Given the description of an element on the screen output the (x, y) to click on. 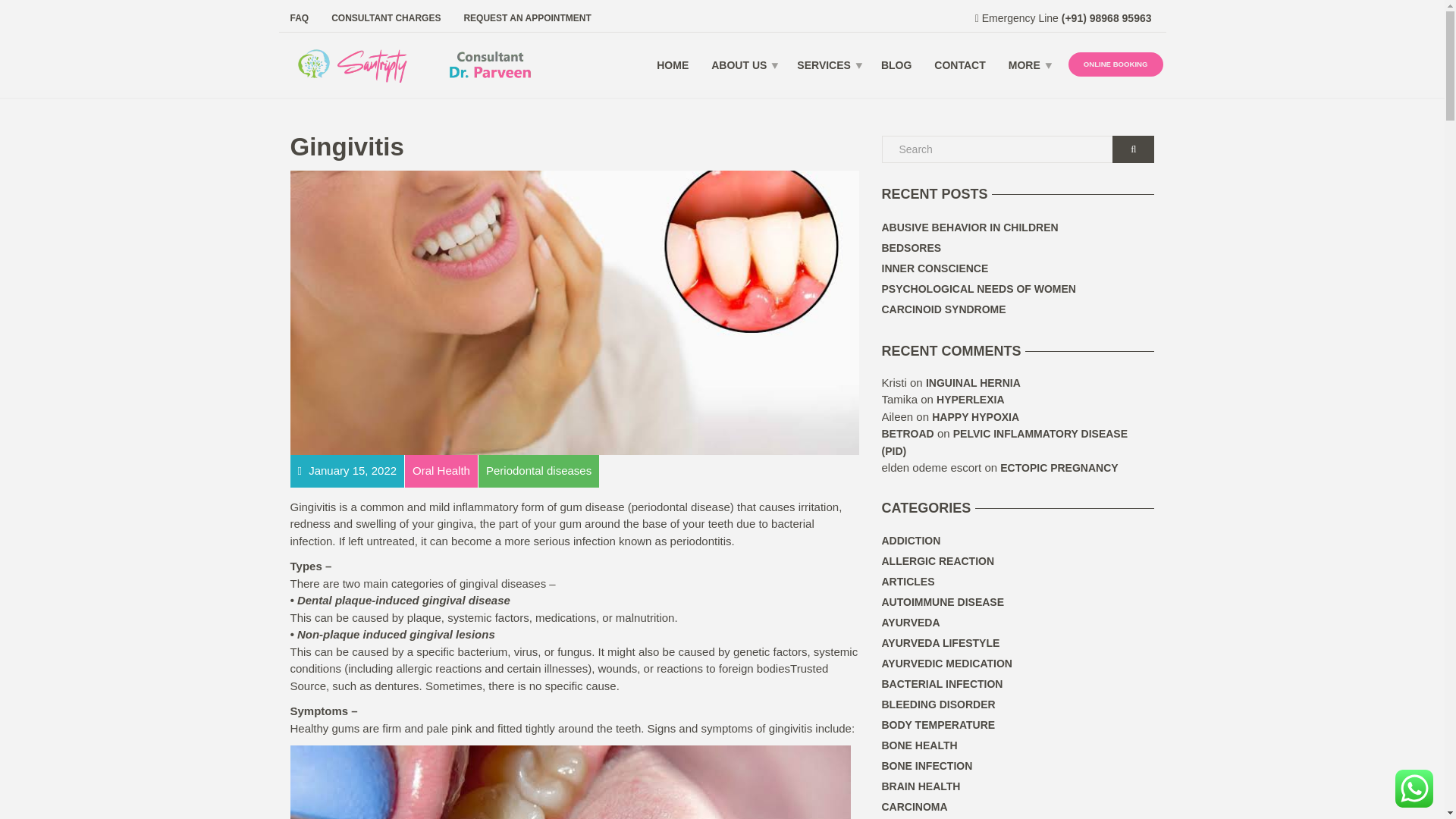
Services (827, 64)
INGUINAL HERNIA (973, 382)
ABUSIVE BEHAVIOR IN CHILDREN (969, 227)
CONTACT (959, 64)
Periodontal diseases (537, 470)
INNER CONSCIENCE (934, 268)
FAQ (304, 17)
CONSULTANT CHARGES (385, 17)
BEDSORES (910, 248)
BLOG (896, 64)
Consultant Charges (385, 17)
Oral Health (440, 470)
HOME (672, 64)
REQUEST AN APPOINTMENT (521, 17)
PSYCHOLOGICAL NEEDS OF WOMEN (977, 289)
